Given the description of an element on the screen output the (x, y) to click on. 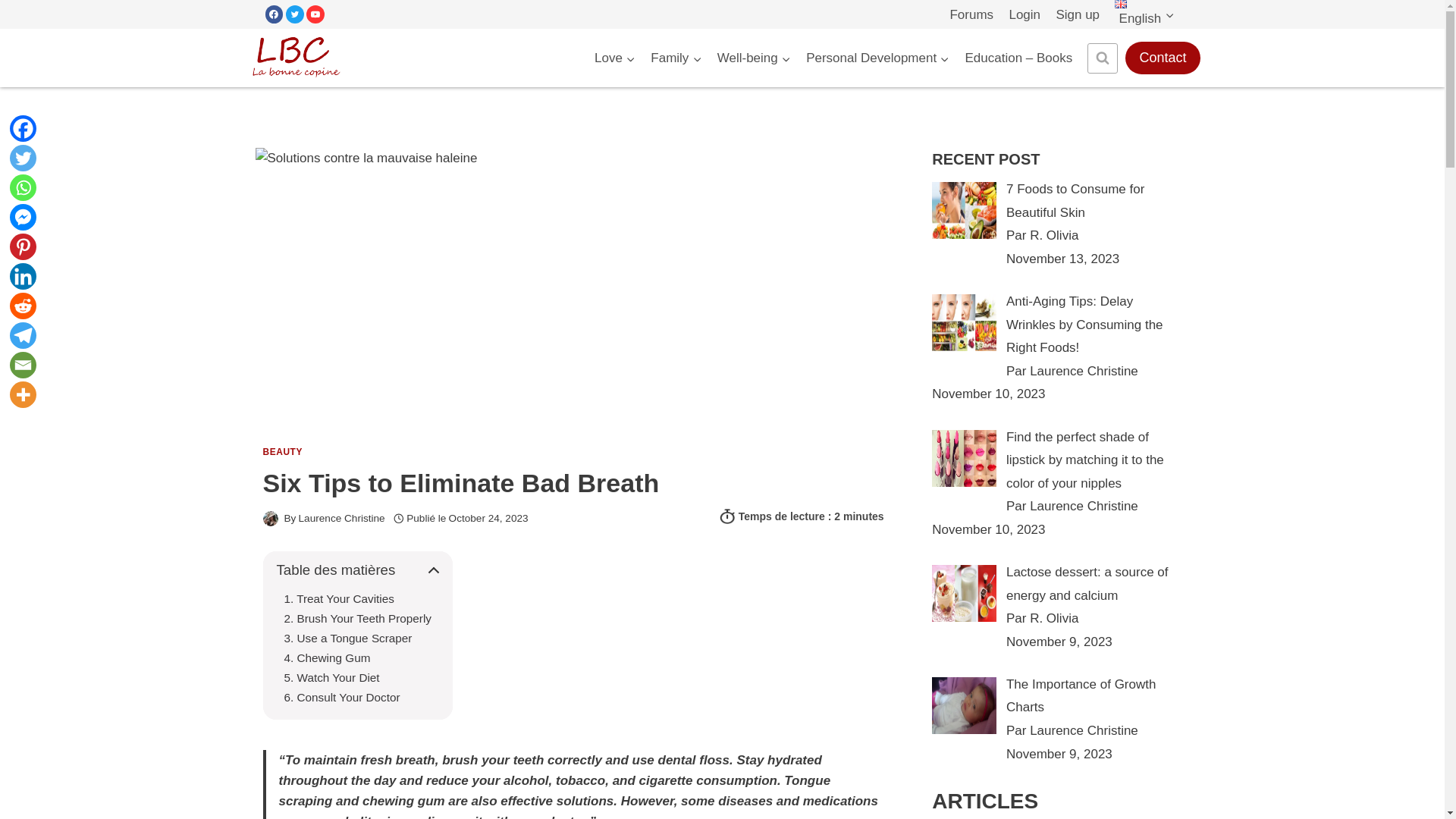
BEAUTY (281, 451)
4. Chewing Gum (326, 657)
2. Brush Your Teeth Properly (356, 617)
Facebook (23, 128)
6. Consult Your Doctor (340, 696)
English (1143, 14)
Facebook Messenger (23, 216)
3. Use a Tongue Scraper (347, 637)
Love (614, 58)
Contact (1162, 57)
Pinterest (23, 246)
Whatsapp (23, 187)
Well-being (753, 58)
Reddit (23, 305)
Twitter (23, 157)
